Given the description of an element on the screen output the (x, y) to click on. 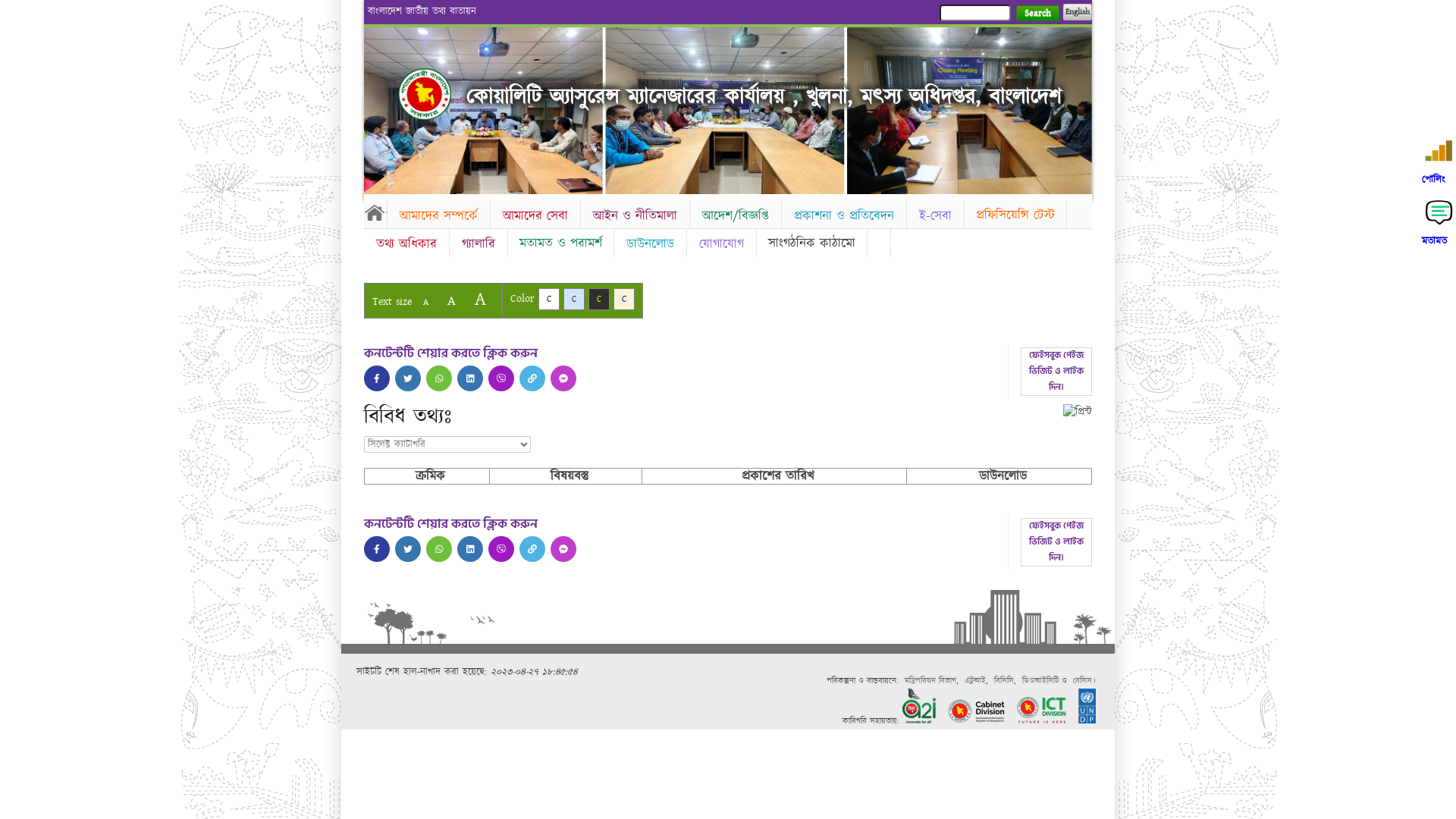
A Element type: text (451, 300)
A Element type: text (480, 298)
Home Element type: hover (375, 211)
Home Element type: hover (424, 93)
C Element type: text (623, 299)
Search Element type: text (1037, 13)
C Element type: text (548, 299)
English Element type: text (1077, 11)
C Element type: text (598, 299)
A Element type: text (425, 301)
C Element type: text (573, 299)
